Given the description of an element on the screen output the (x, y) to click on. 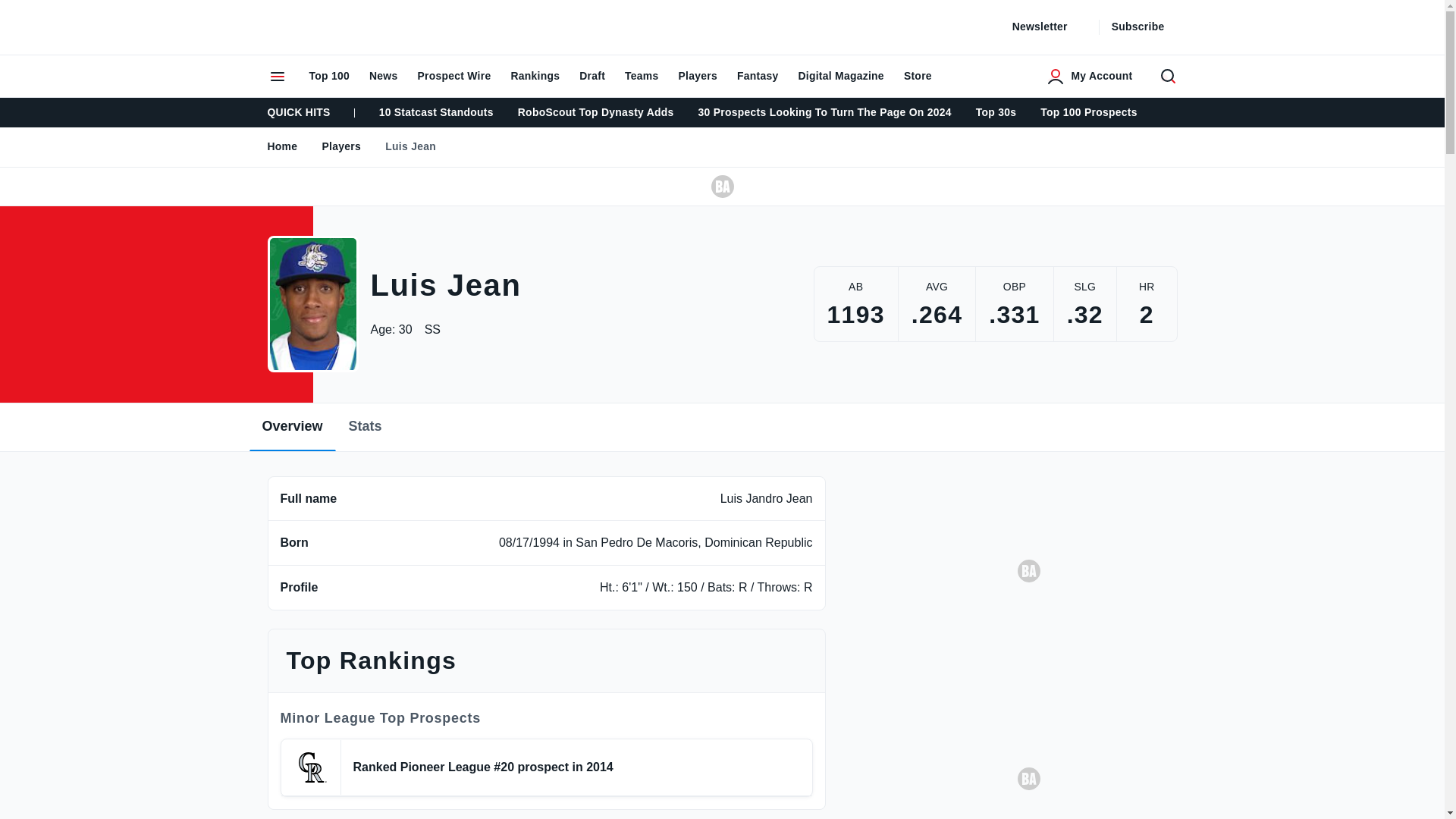
Top 30s (995, 112)
On base percentage (1014, 288)
Home Runs (1147, 288)
Stats (365, 426)
Subscribe (1147, 26)
News (383, 76)
Draft (591, 76)
My Account (1088, 76)
Home (282, 146)
Top 100 (328, 76)
